Given the description of an element on the screen output the (x, y) to click on. 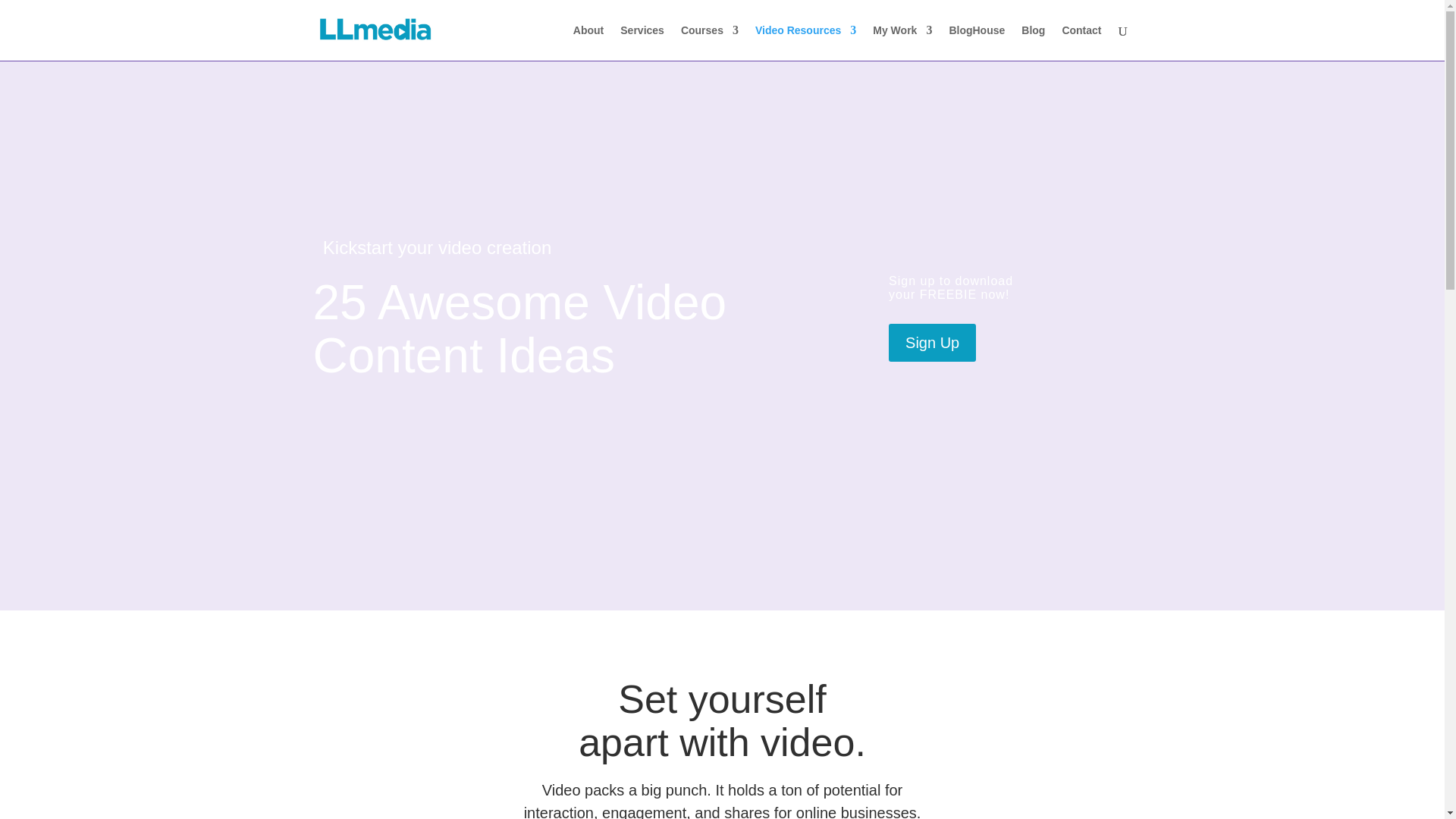
My Work (901, 42)
Page 3 (721, 798)
Services (641, 42)
Contact (1080, 42)
BlogHouse (976, 42)
Video Resources (805, 42)
Courses (709, 42)
Sign Up (931, 342)
